Given the description of an element on the screen output the (x, y) to click on. 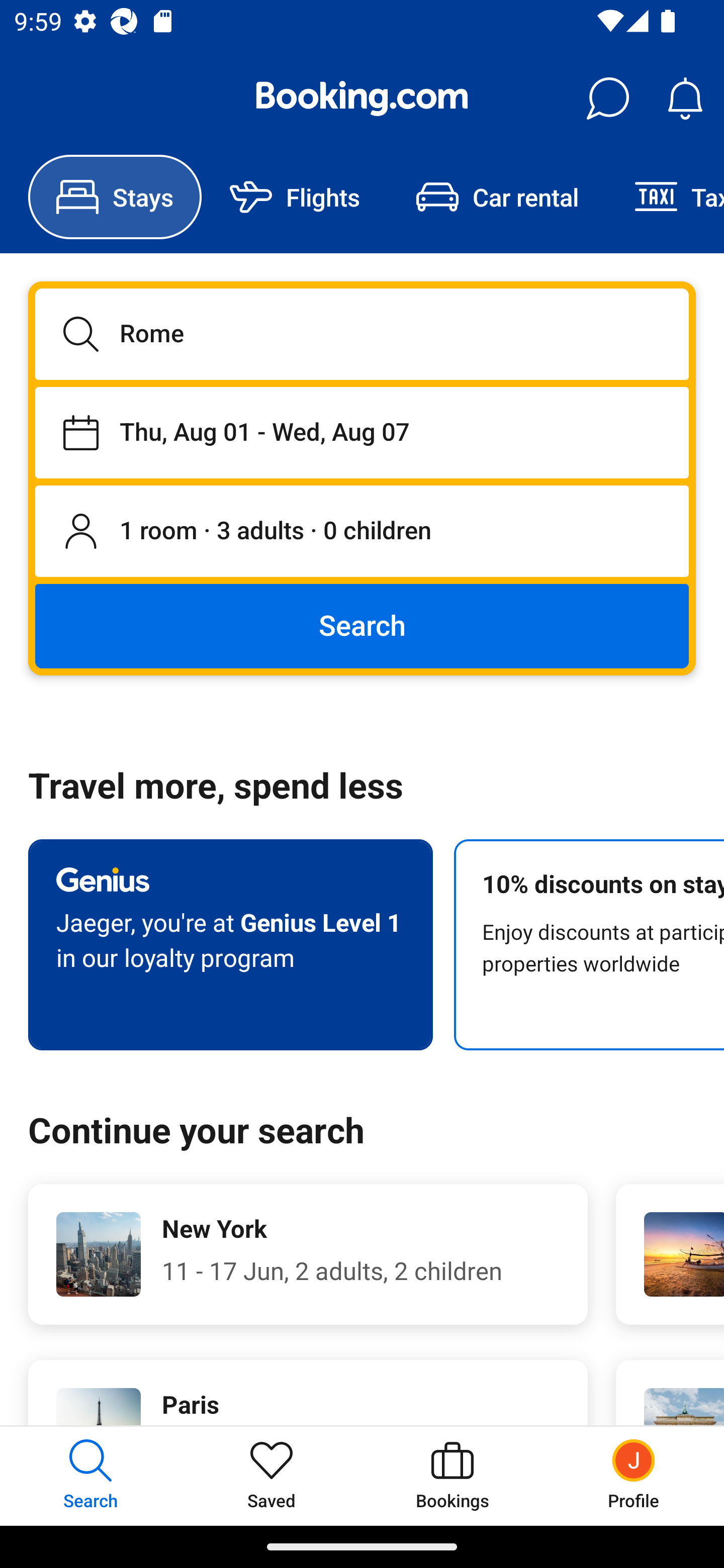
Messages (607, 98)
Notifications (685, 98)
Stays (114, 197)
Flights (294, 197)
Car rental (497, 197)
Taxi (665, 197)
Rome (361, 333)
Staying from Thu, Aug 01 until Wed, Aug 07 (361, 432)
1 room, 3 adults, 0 children (361, 531)
Search (361, 625)
New York 11 - 17 Jun, 2 adults, 2 children (307, 1253)
Saved (271, 1475)
Bookings (452, 1475)
Profile (633, 1475)
